Given the description of an element on the screen output the (x, y) to click on. 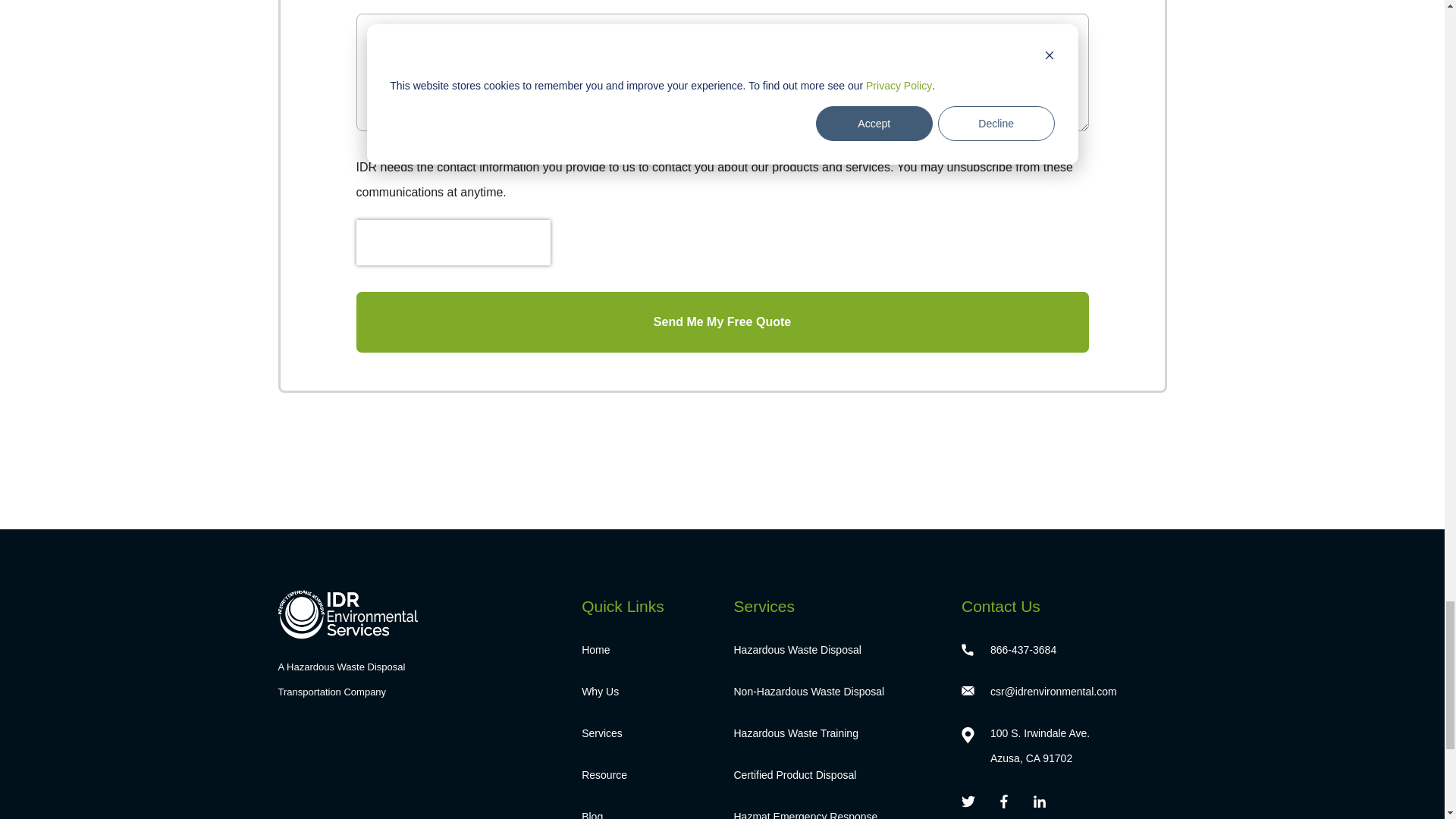
reCAPTCHA (453, 242)
Resource (645, 774)
Send Me My Free Quote (722, 321)
Blog (645, 811)
Non-Hazardous Waste Disposal (836, 691)
Why Us (645, 691)
Hazardous Waste Disposal (836, 650)
Services (645, 733)
Send Me My Free Quote (722, 321)
Home (645, 650)
